Given the description of an element on the screen output the (x, y) to click on. 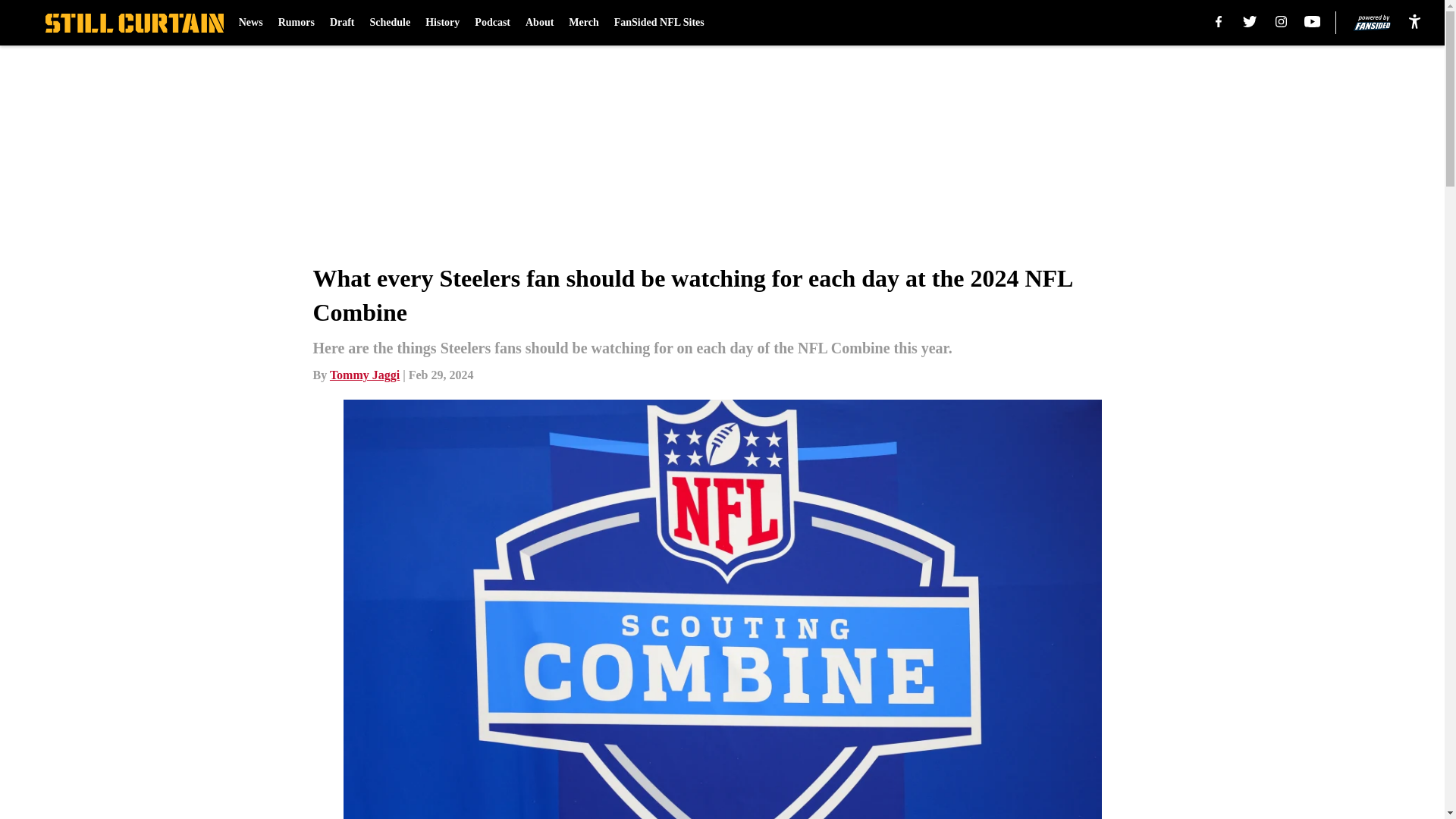
Rumors (296, 22)
About (539, 22)
FanSided NFL Sites (659, 22)
News (250, 22)
Schedule (389, 22)
Merch (583, 22)
History (442, 22)
Tommy Jaggi (364, 374)
Podcast (492, 22)
Draft (342, 22)
